Given the description of an element on the screen output the (x, y) to click on. 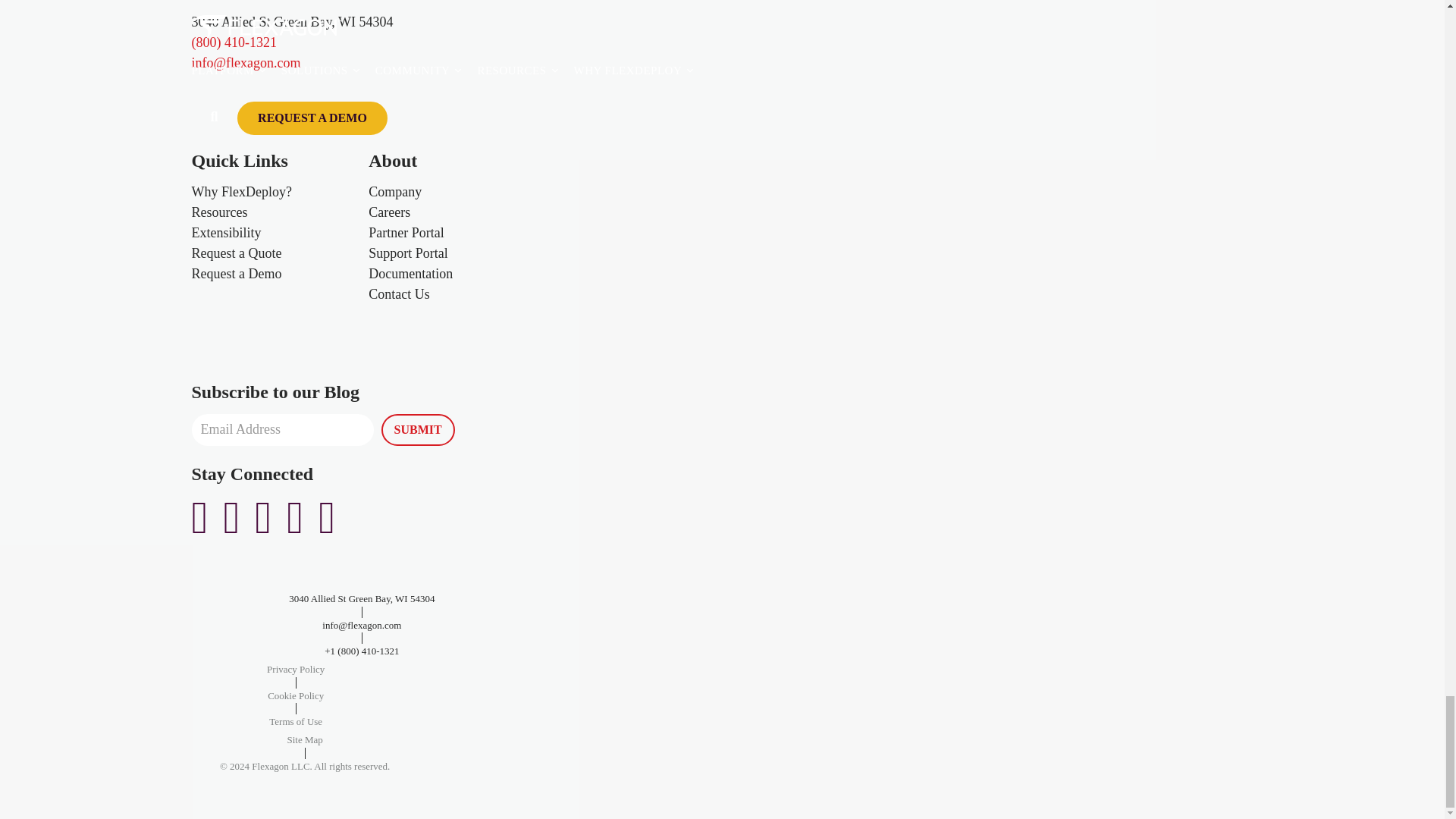
Submit (417, 429)
